Given the description of an element on the screen output the (x, y) to click on. 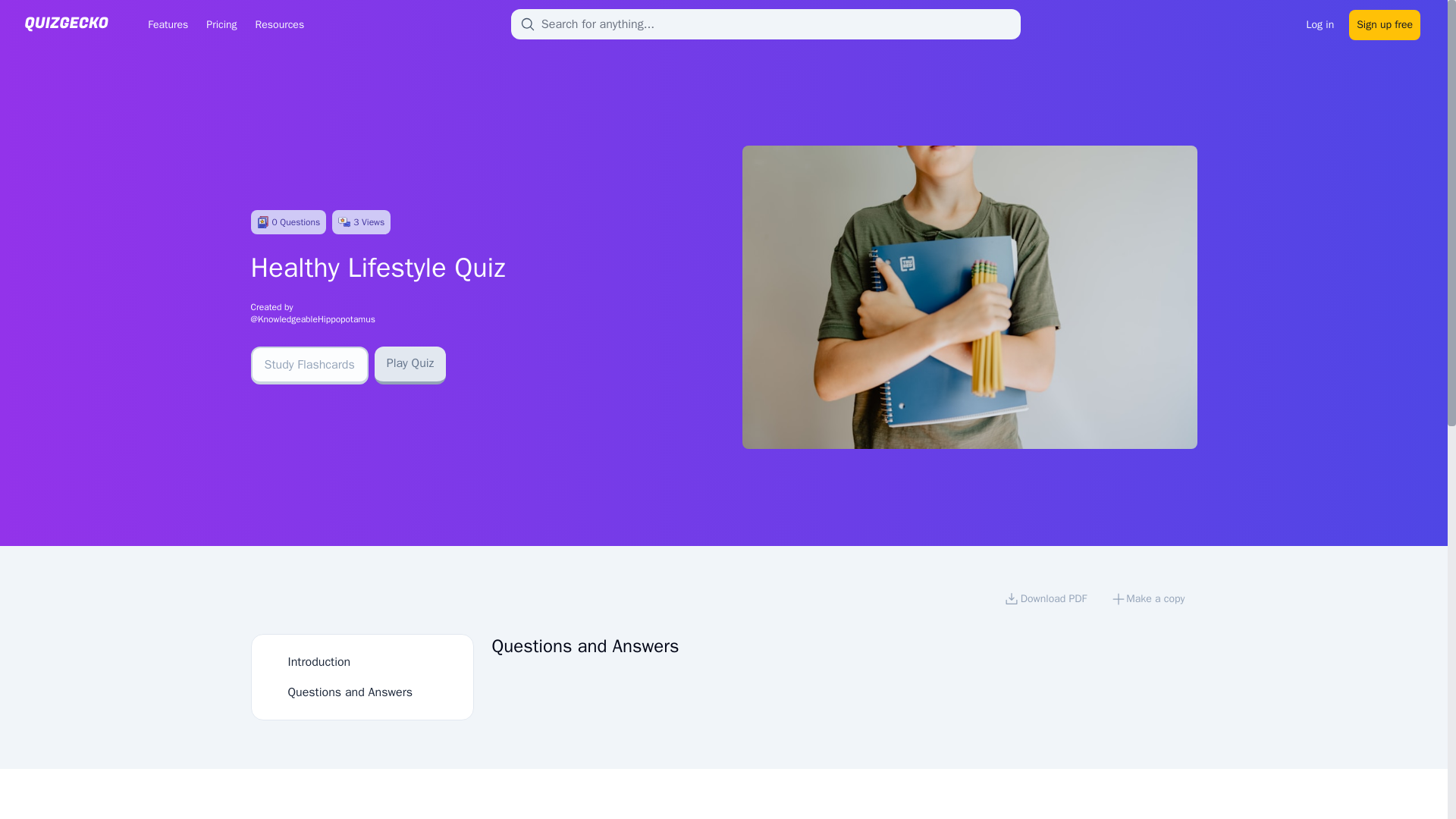
Features (167, 23)
Sign up free (1384, 23)
Pricing (221, 23)
Play Quiz (410, 365)
Resources (279, 23)
Introduction (319, 661)
Log in (1320, 23)
Questions and Answers (350, 692)
Study Flashcards (309, 365)
Make a copy (1147, 600)
